Given the description of an element on the screen output the (x, y) to click on. 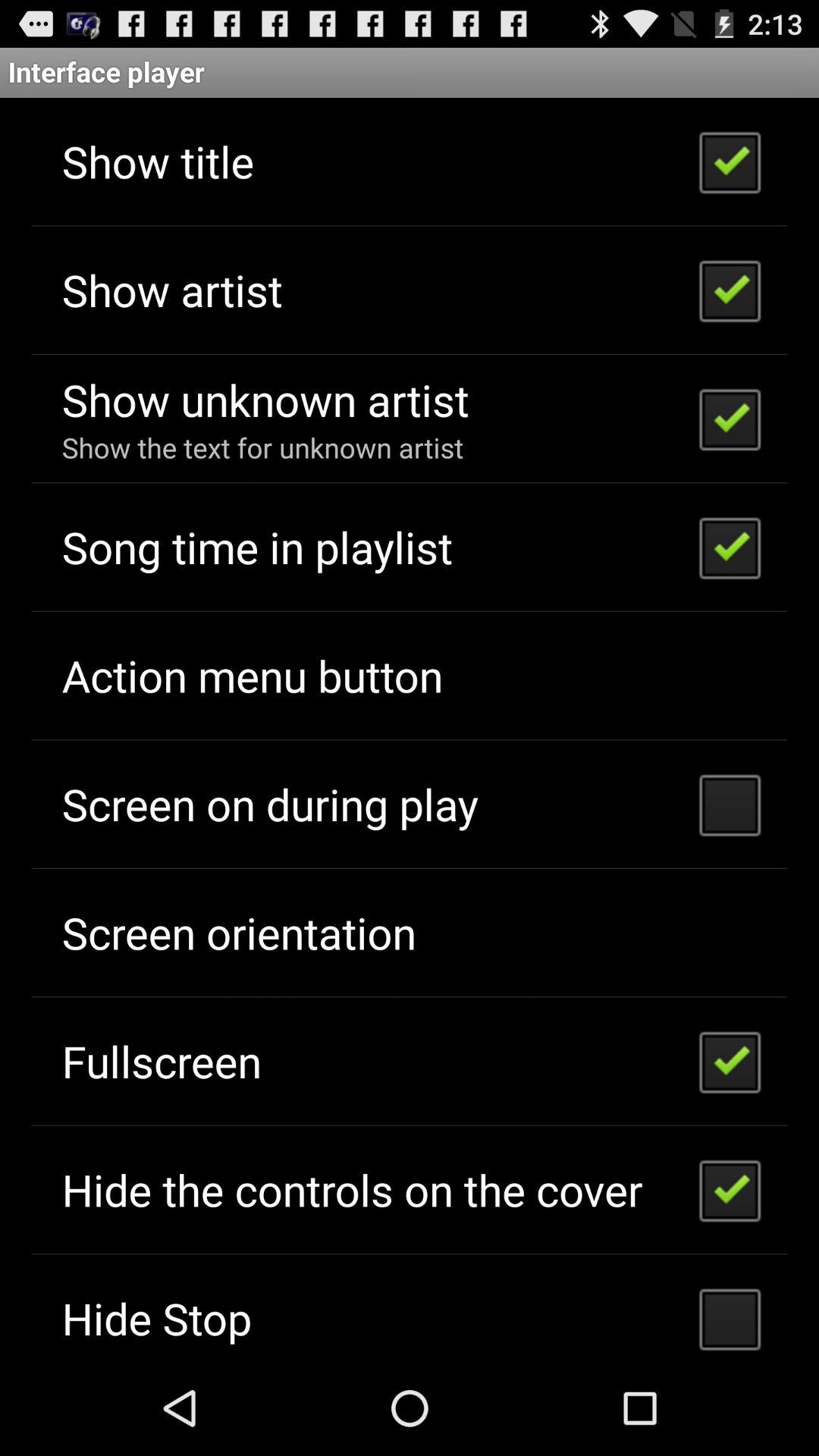
tap the item below the hide the controls item (156, 1317)
